Given the description of an element on the screen output the (x, y) to click on. 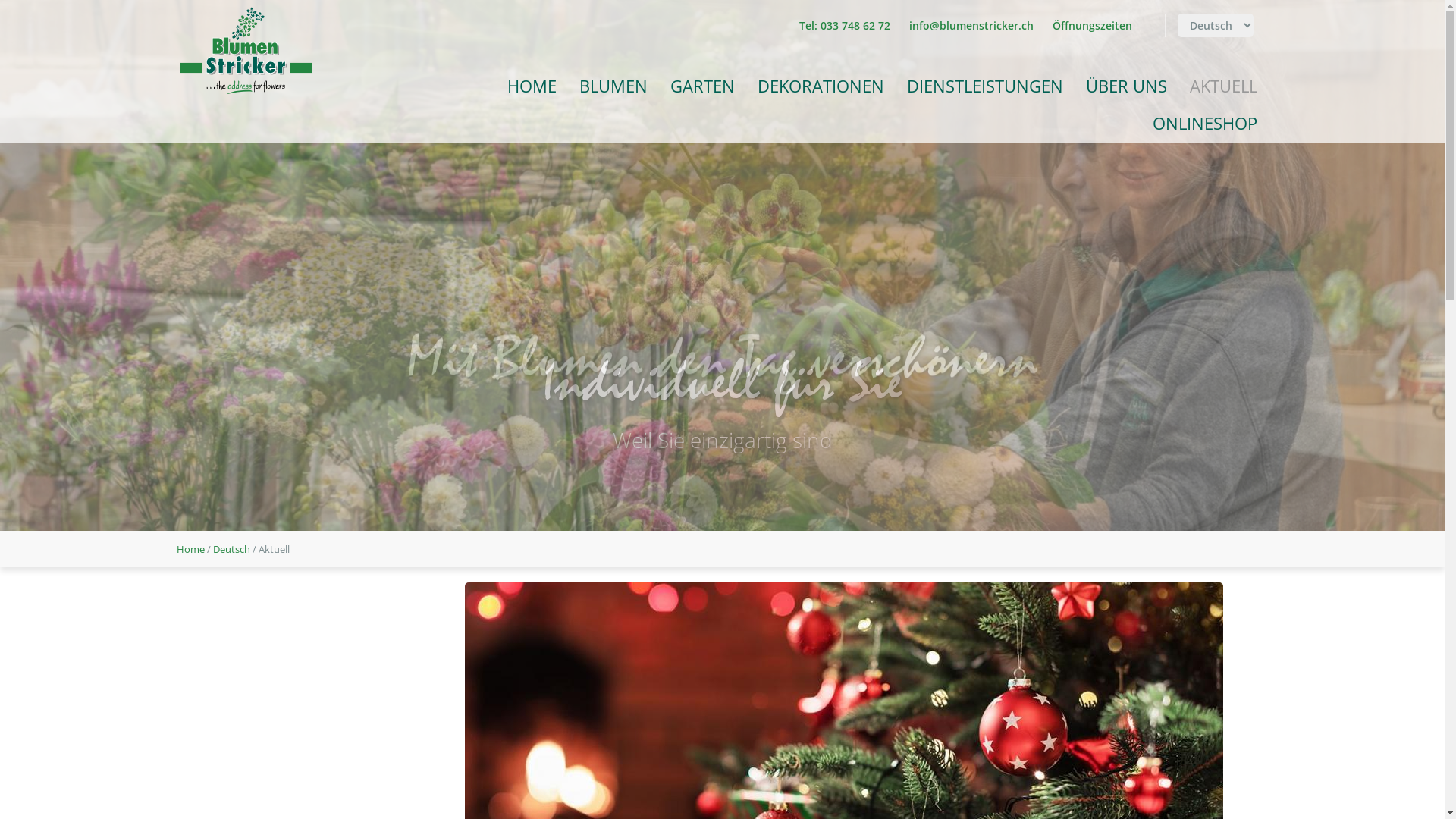
Deutsch Element type: text (230, 548)
GARTEN Element type: text (701, 86)
info@blumenstricker.ch Element type: text (970, 25)
DEKORATIONEN Element type: text (820, 86)
BLUMEN Element type: text (612, 86)
HOME Element type: text (531, 86)
ONLINESHOP Element type: text (1203, 123)
Home Element type: text (189, 548)
DIENSTLEISTUNGEN Element type: text (983, 86)
AKTUELL Element type: text (1223, 86)
